Given the description of an element on the screen output the (x, y) to click on. 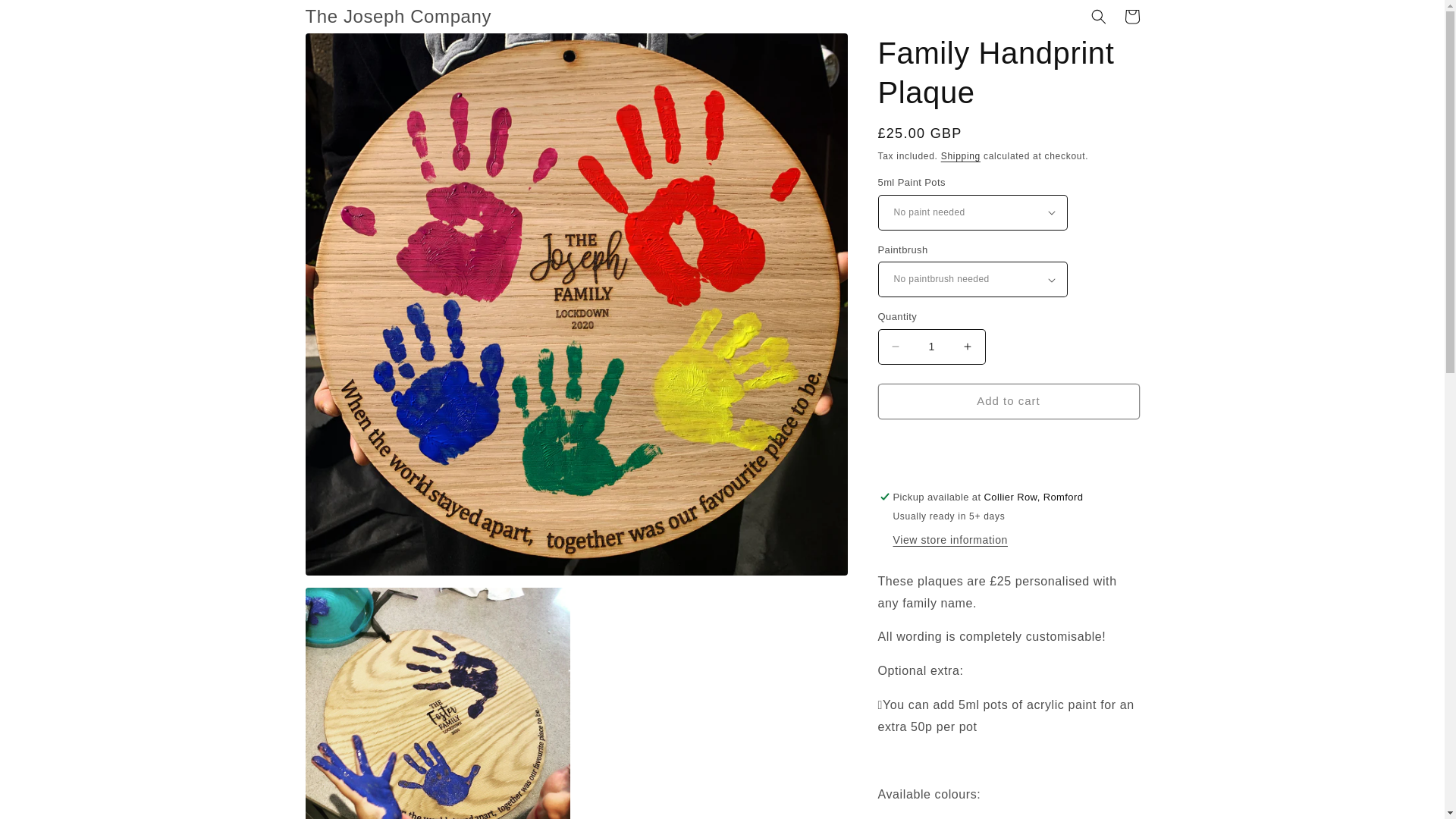
Decrease quantity for Family Handprint Plaque (894, 346)
Increase quantity for Family Handprint Plaque (967, 346)
Skip to product information (350, 49)
The Joseph Company (398, 16)
Cart (1131, 16)
1 (931, 346)
Shipping (959, 155)
Skip to content (45, 17)
Add to cart (1008, 401)
View store information (950, 540)
